Given the description of an element on the screen output the (x, y) to click on. 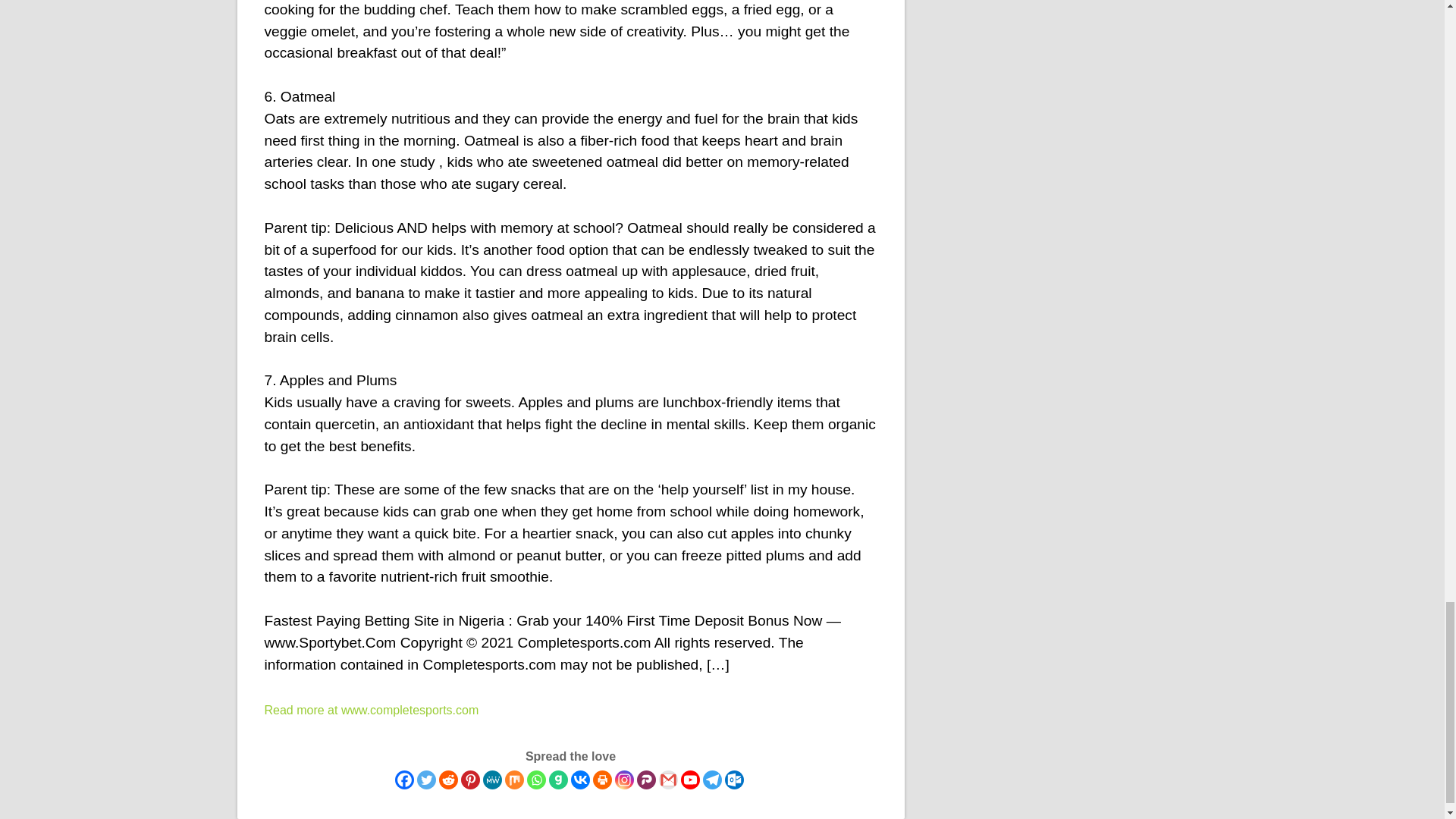
Reddit (447, 779)
Facebook (403, 779)
Print (601, 779)
Read more at www.completesports.com (371, 709)
Telegram (710, 779)
Parler (646, 779)
MeWe (490, 779)
Instagram (623, 779)
Whatsapp (534, 779)
Pinterest (470, 779)
